Given the description of an element on the screen output the (x, y) to click on. 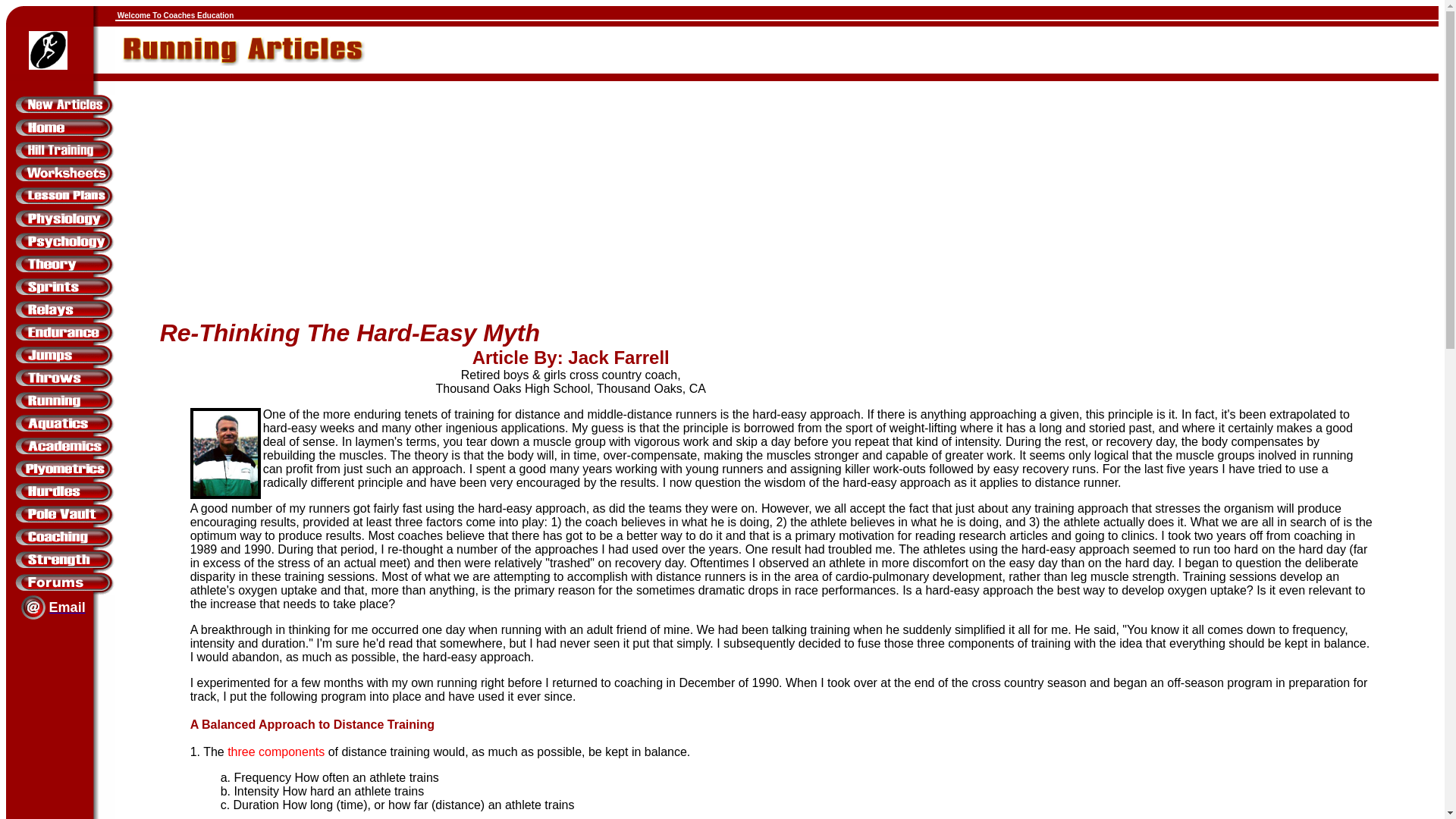
Email (67, 606)
